Given the description of an element on the screen output the (x, y) to click on. 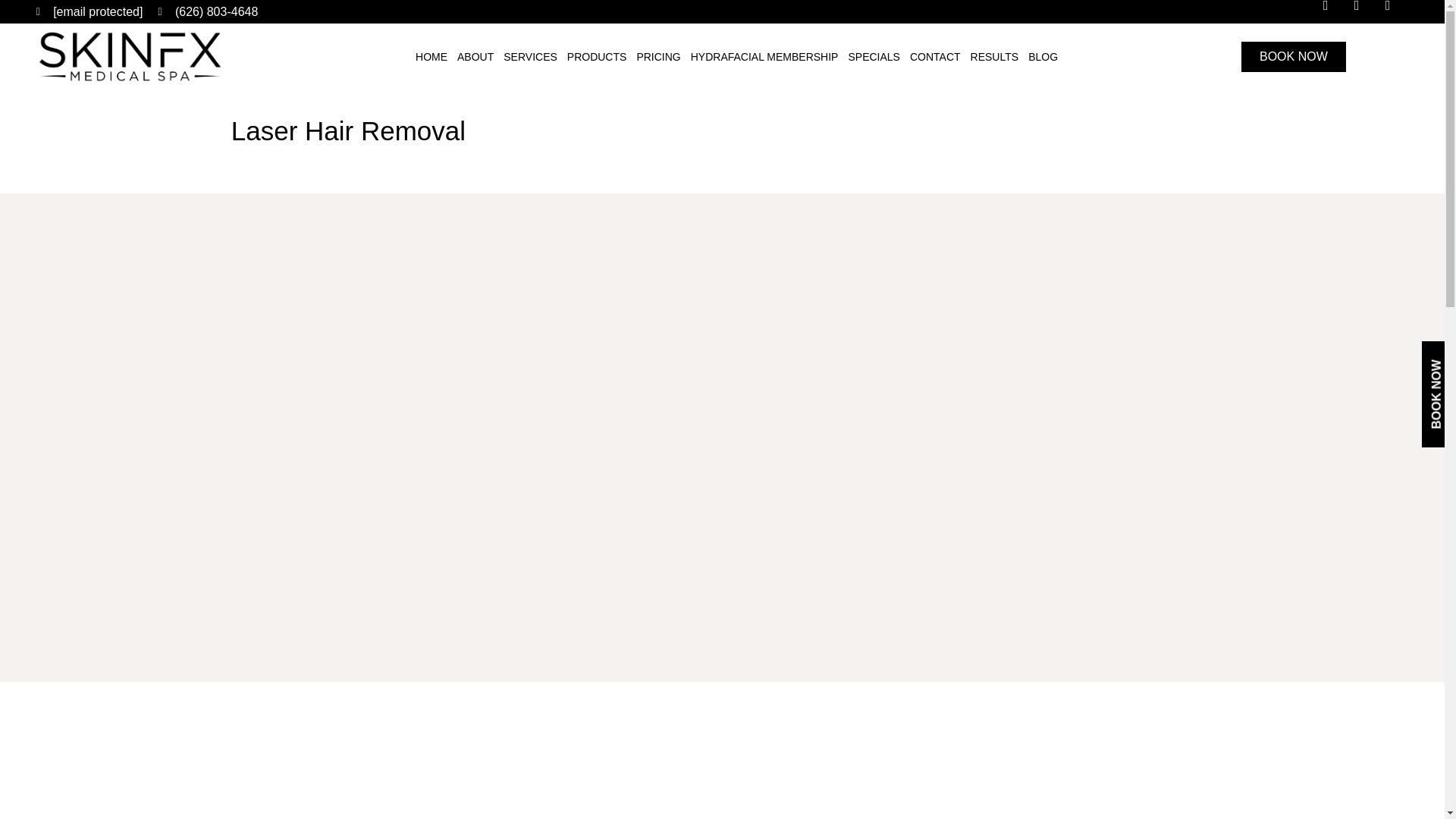
PRICING (657, 56)
BLOG (1043, 56)
ABOUT (474, 56)
RESULTS (994, 56)
CONTACT (934, 56)
HYDRAFACIAL MEMBERSHIP (765, 56)
SERVICES (529, 56)
PRODUCTS (596, 56)
HOME (431, 56)
SPECIALS (873, 56)
